Given the description of an element on the screen output the (x, y) to click on. 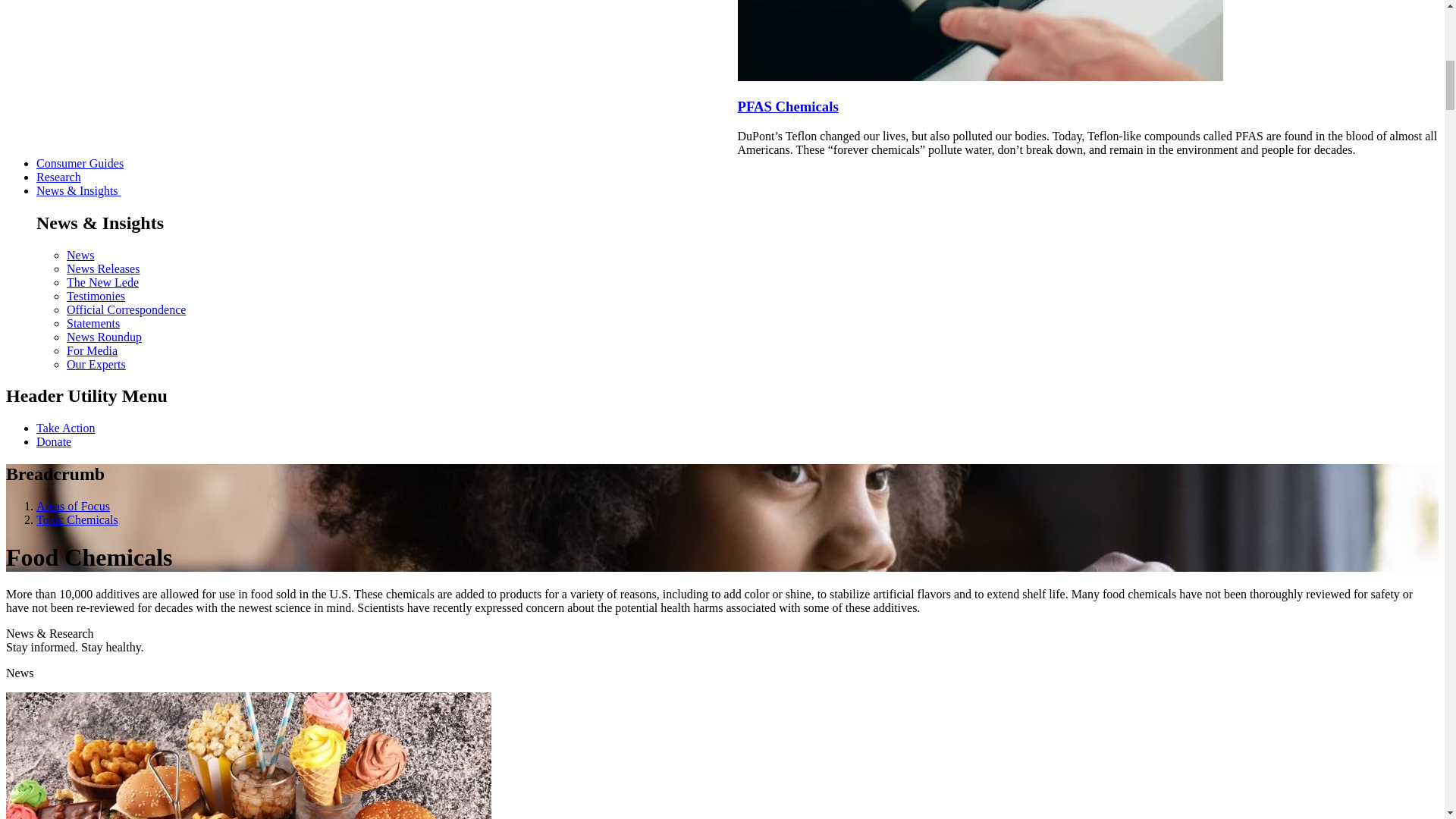
PFAS Chemicals (787, 106)
Testimonies (95, 295)
Consumer Guides (79, 163)
Statements (92, 323)
News Releases (102, 268)
Official Correspondence (126, 309)
News (80, 254)
Research (58, 176)
The New Lede (102, 282)
